Given the description of an element on the screen output the (x, y) to click on. 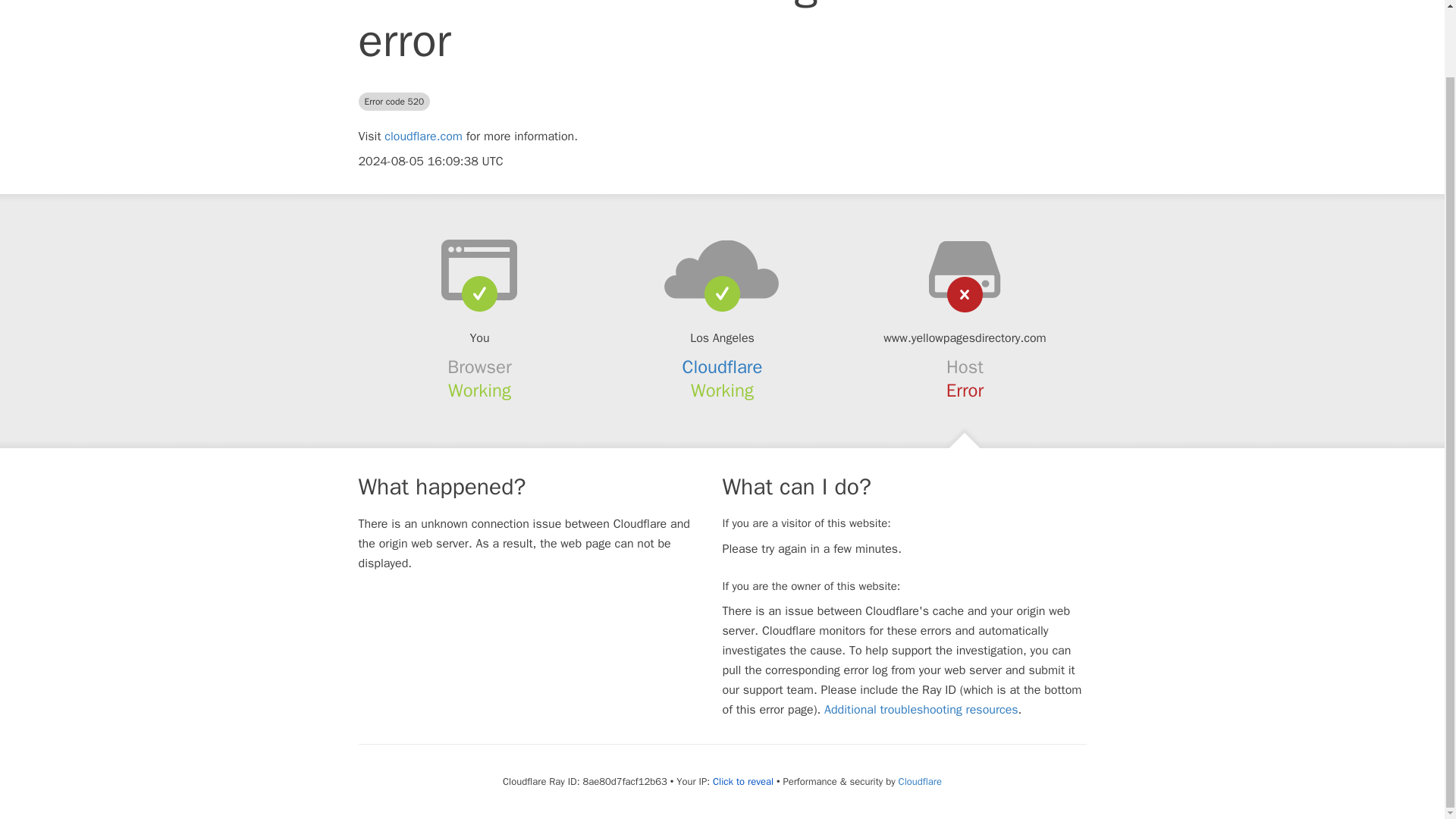
cloudflare.com (423, 136)
Click to reveal (743, 781)
Cloudflare (722, 366)
Additional troubleshooting resources (920, 709)
Cloudflare (920, 780)
